Given the description of an element on the screen output the (x, y) to click on. 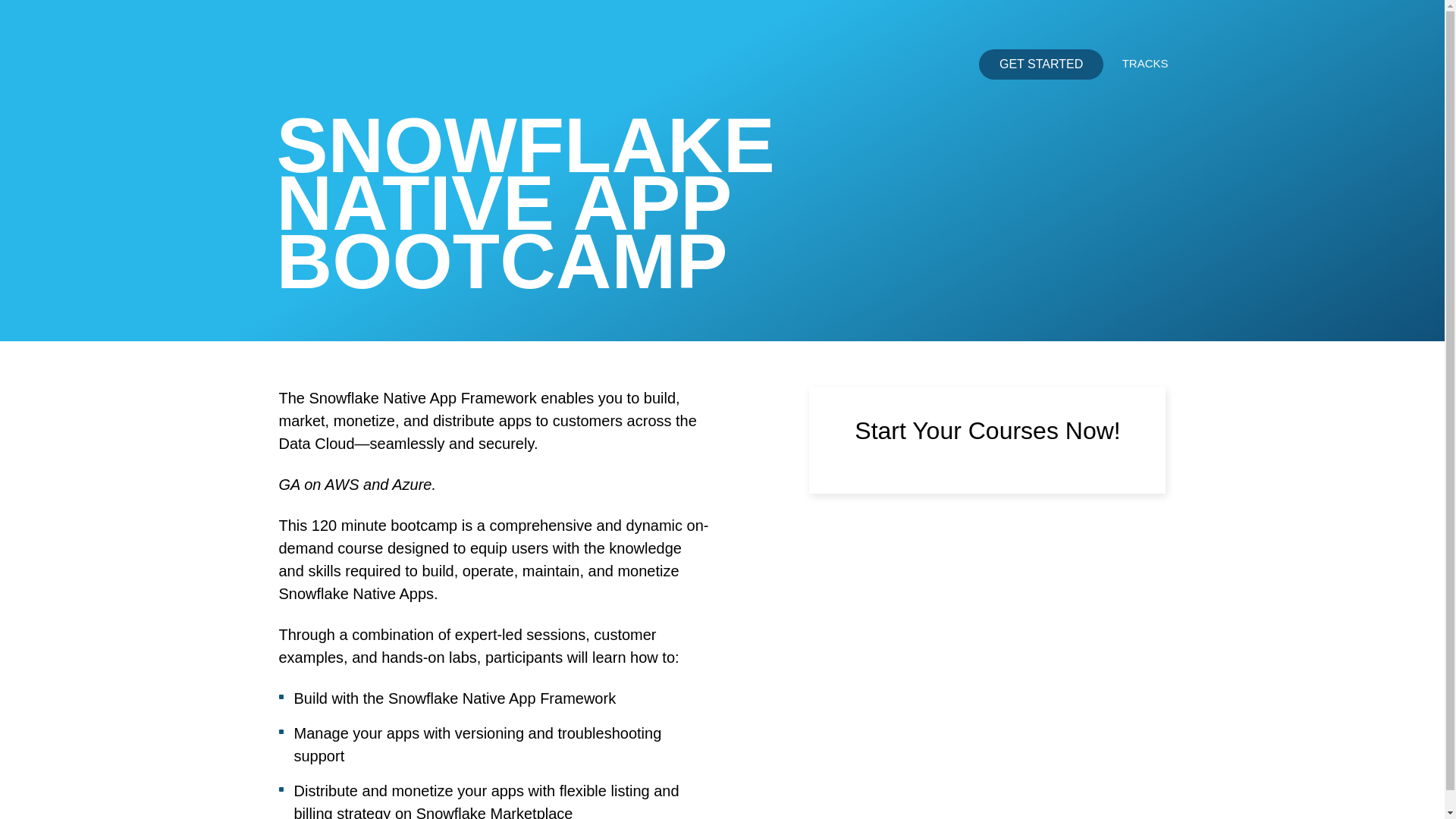
GET STARTED (1040, 64)
TRACKS (1153, 62)
